Given the description of an element on the screen output the (x, y) to click on. 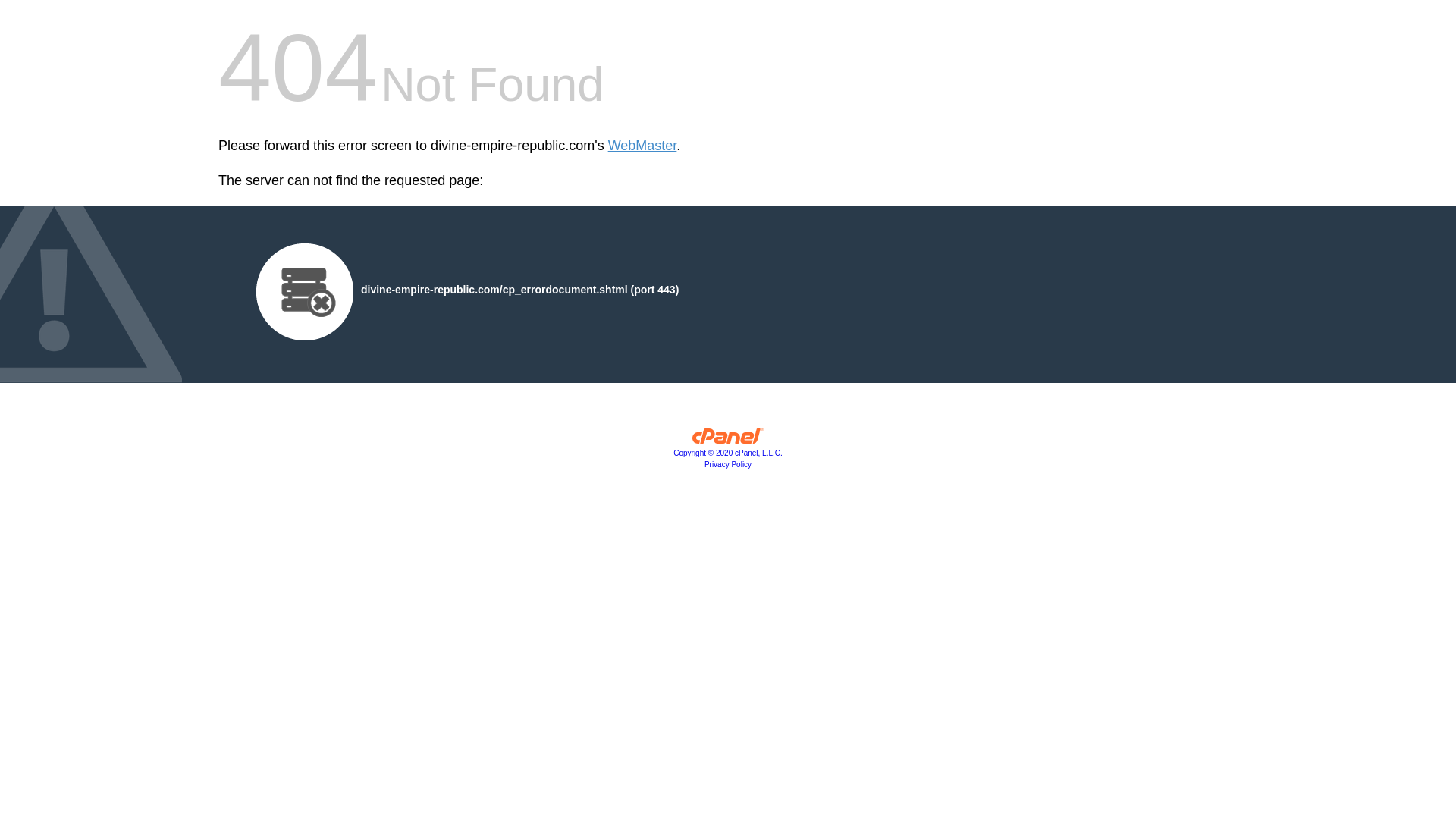
Privacy Policy (727, 464)
cPanel, Inc. (727, 452)
WebMaster (642, 145)
cPanel, Inc. (728, 439)
